Given the description of an element on the screen output the (x, y) to click on. 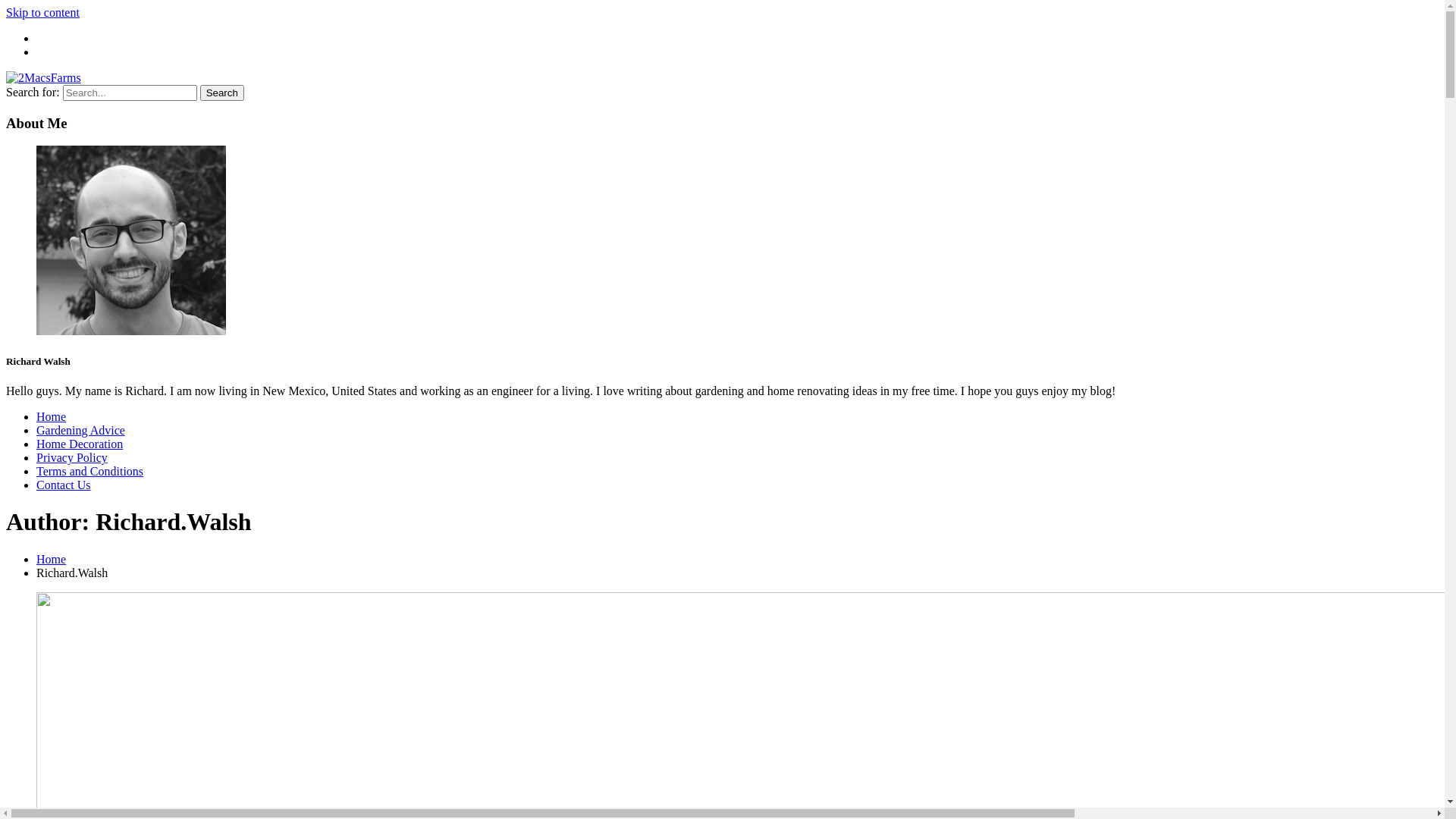
Home Element type: text (50, 558)
Skip to content Element type: text (42, 12)
Home Decoration Element type: text (79, 443)
Terms and Conditions Element type: text (89, 470)
Gardening Advice Element type: text (80, 429)
Privacy Policy Element type: text (71, 457)
Contact Us Element type: text (63, 484)
Search Element type: text (222, 92)
Home Element type: text (50, 416)
2MacsFarms Element type: text (37, 103)
